Given the description of an element on the screen output the (x, y) to click on. 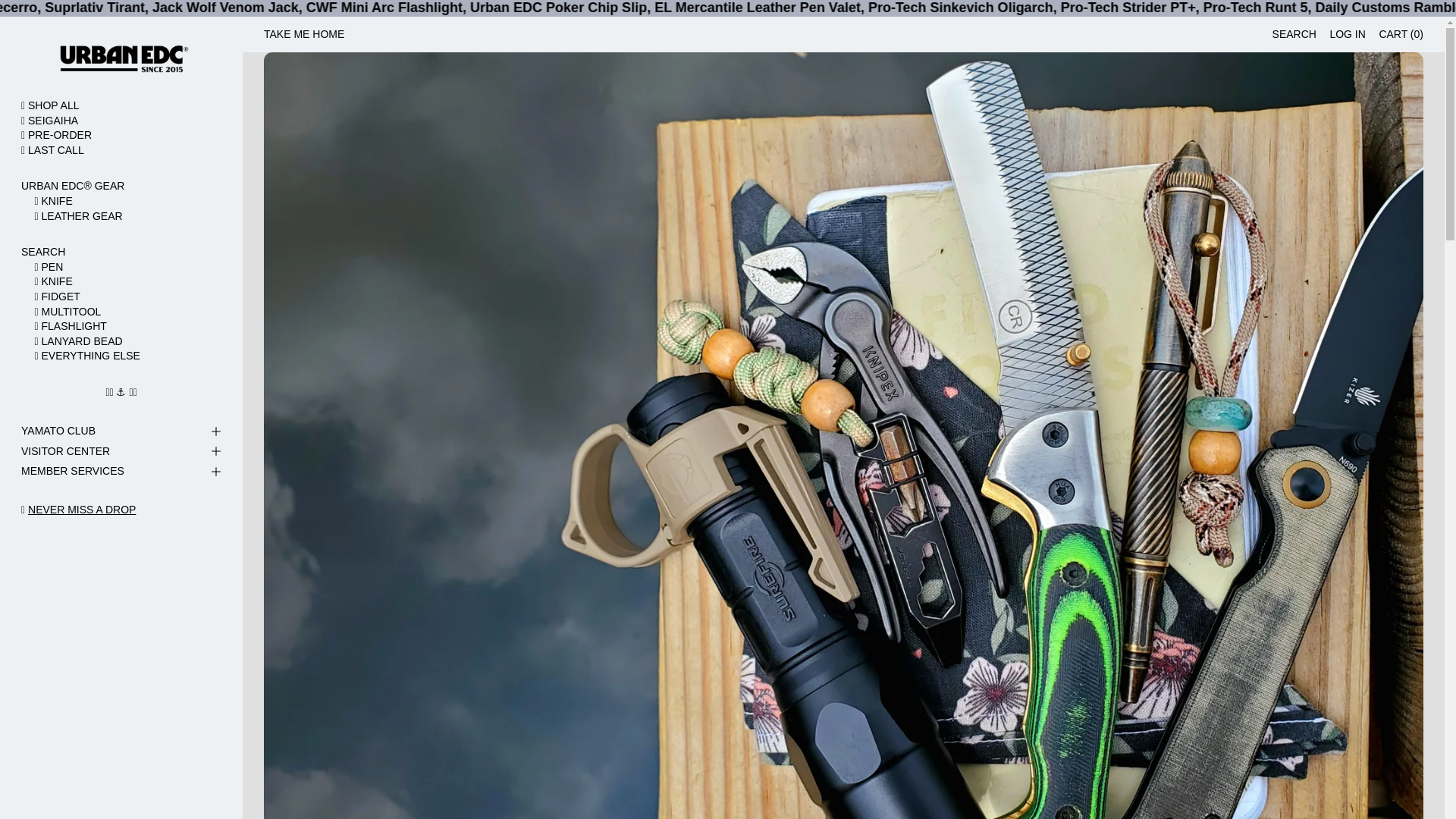
MEMBER SERVICES (121, 471)
LOG IN (1347, 34)
SEARCH (1294, 34)
YAMATO CLUB (121, 431)
NEVER MISS A DROP (81, 509)
TAKE ME HOME (303, 34)
SEARCH (121, 252)
VISITOR CENTER (121, 451)
